Given the description of an element on the screen output the (x, y) to click on. 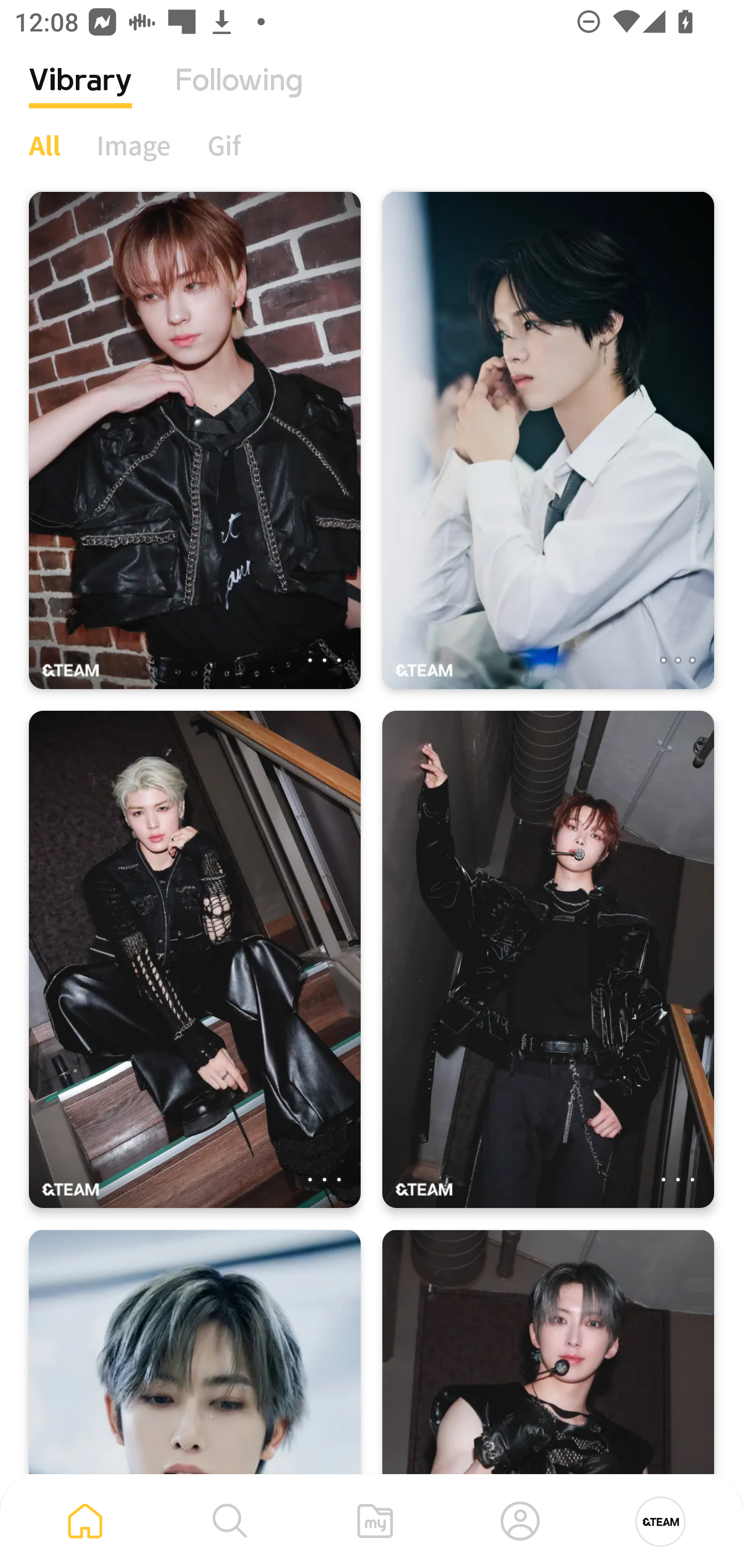
Vibrary (80, 95)
Following (239, 95)
All (44, 145)
Image (133, 145)
Gif (223, 145)
